Given the description of an element on the screen output the (x, y) to click on. 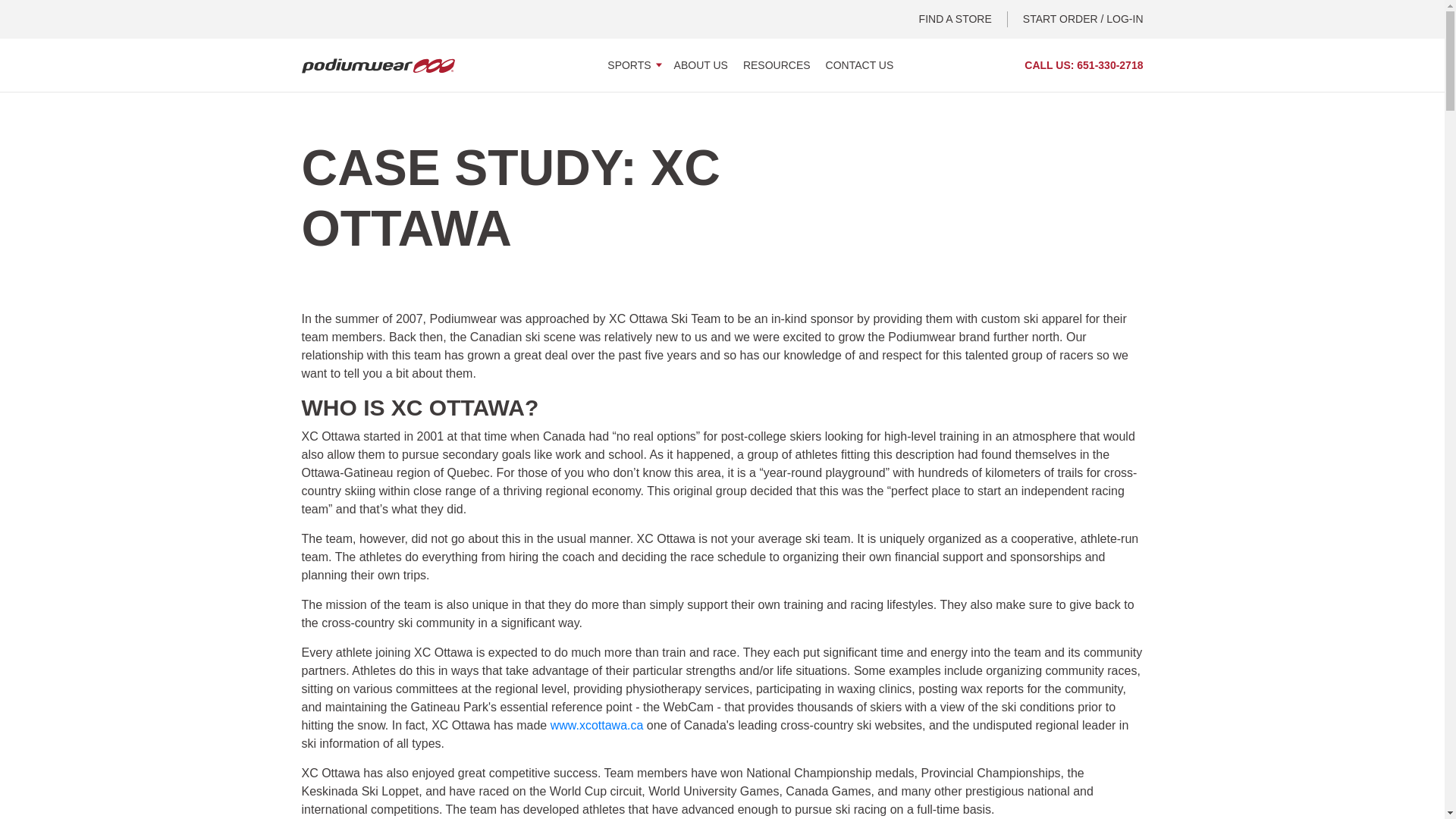
ABOUT US (701, 64)
SPORTS (632, 64)
FIND A STORE (962, 19)
CONTACT US (859, 64)
CALL US: 651-330-2718 (1083, 65)
RESOURCES (776, 64)
www.xcottawa.ca (596, 725)
